Given the description of an element on the screen output the (x, y) to click on. 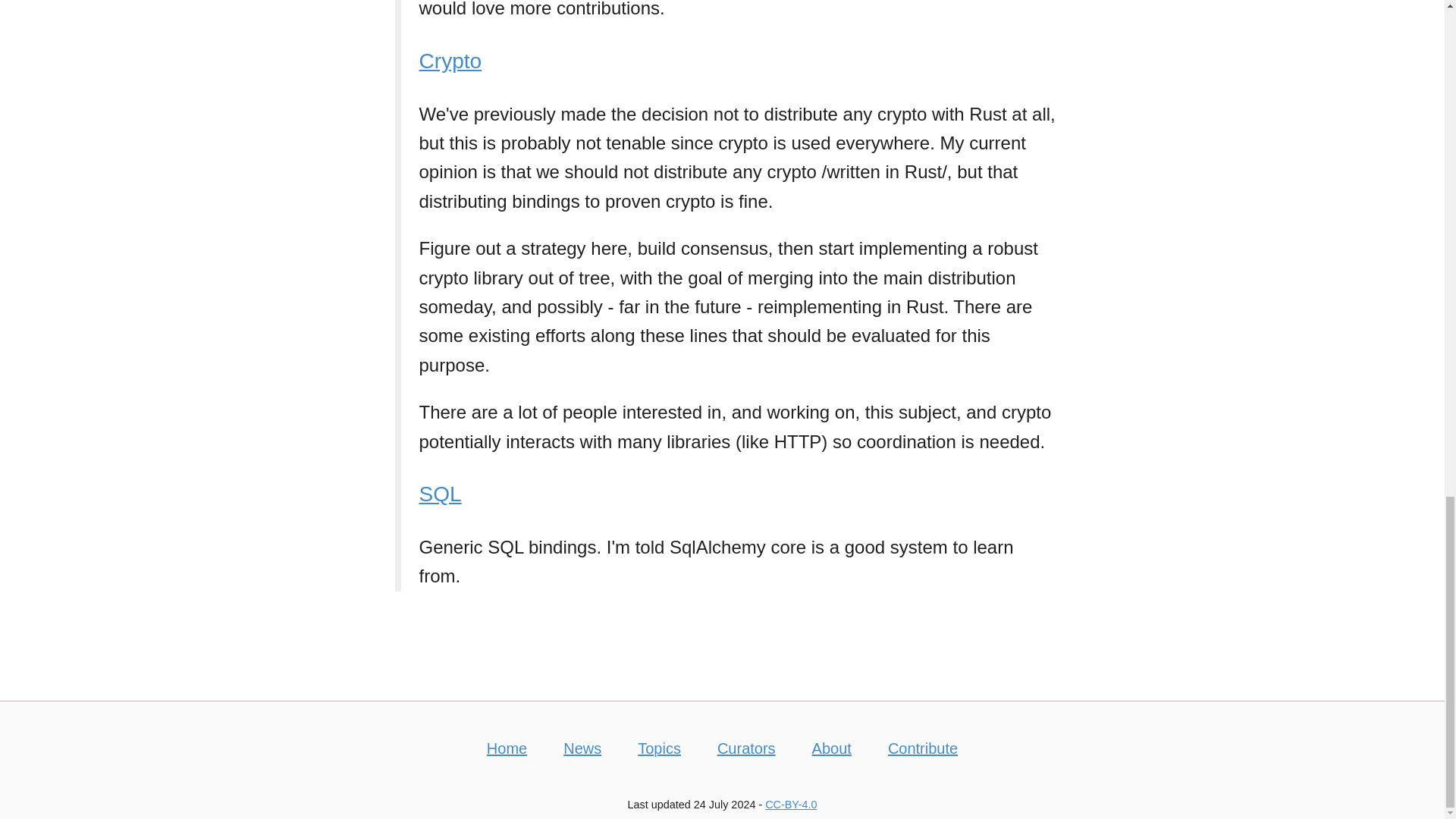
Curators (746, 748)
Home (506, 748)
Contribute (923, 748)
Crypto (450, 60)
SQL (440, 494)
CC-BY-4.0 (790, 804)
News (582, 748)
About (831, 748)
Topics (659, 748)
